Given the description of an element on the screen output the (x, y) to click on. 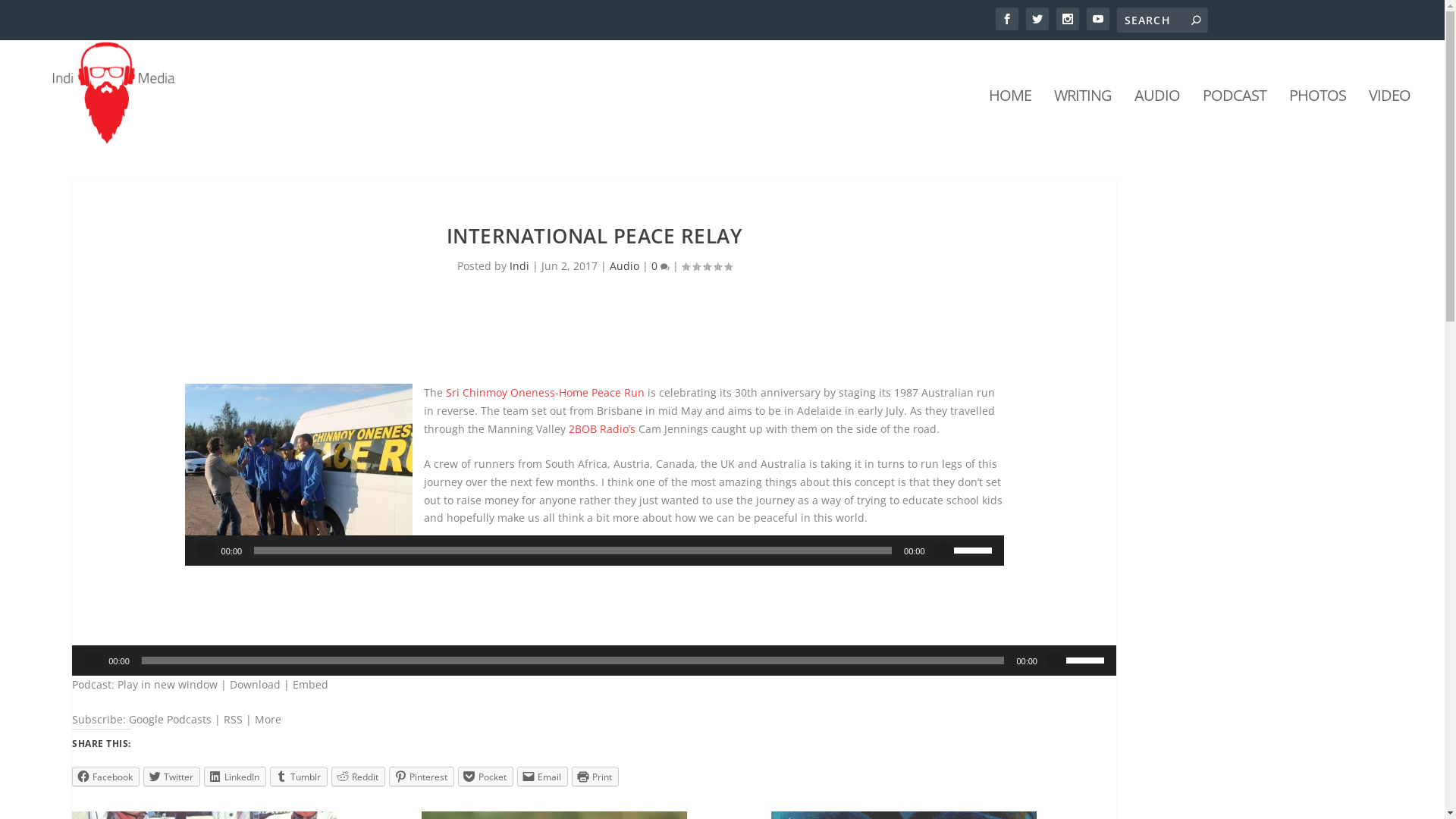
Sri Chinmoy Oneness-Home Peace Run Element type: text (544, 392)
Play Element type: hover (93, 660)
Twitter Element type: text (171, 776)
WRITING Element type: text (1082, 118)
LinkedIn Element type: text (234, 776)
HOME Element type: text (1009, 118)
Tumblr Element type: text (298, 776)
AUDIO Element type: text (1156, 118)
0 Element type: text (660, 265)
Play Element type: hover (206, 550)
Pinterest Element type: text (421, 776)
Download Element type: text (254, 684)
Search for: Element type: hover (1161, 19)
Audio Element type: text (624, 265)
Facebook Element type: text (105, 776)
Indi Element type: text (519, 265)
comment count Element type: hover (664, 266)
PHOTOS Element type: text (1317, 118)
Print Element type: text (594, 776)
Rating: 0.00 Element type: hover (706, 266)
VIDEO Element type: text (1389, 118)
Use Up/Down Arrow keys to increase or decrease volume. Element type: text (974, 548)
More Element type: text (267, 719)
Embed Element type: text (310, 684)
Mute Element type: hover (1055, 660)
RSS Element type: text (232, 719)
Pocket Element type: text (485, 776)
PODCAST Element type: text (1234, 118)
Image credit Rathin Boulton Element type: hover (298, 474)
Reddit Element type: text (358, 776)
Google Podcasts Element type: text (169, 719)
Use Up/Down Arrow keys to increase or decrease volume. Element type: text (1087, 658)
Play in new window Element type: text (167, 684)
Email Element type: text (542, 776)
Mute Element type: hover (943, 550)
